Given the description of an element on the screen output the (x, y) to click on. 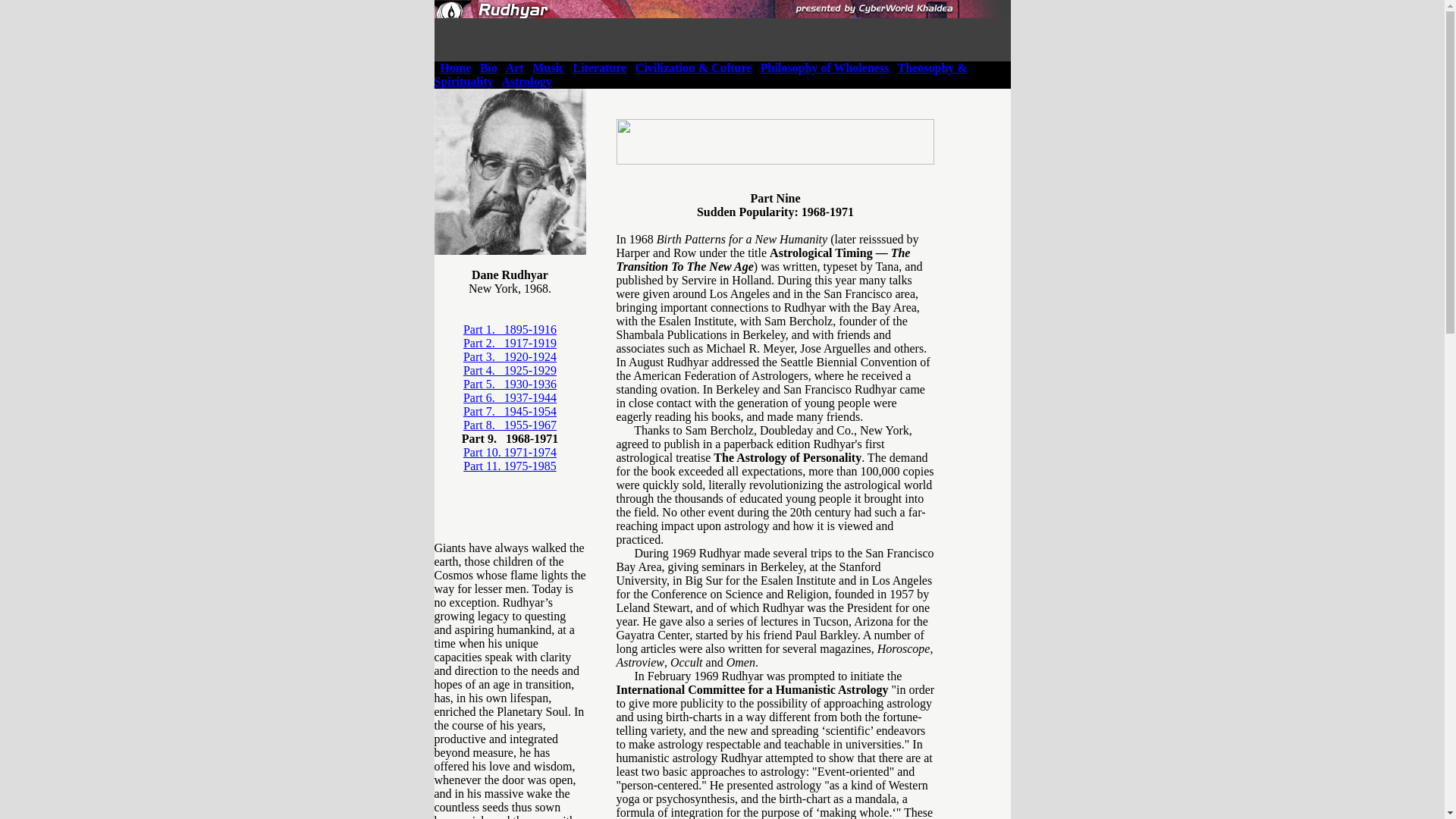
Part 8.   1955-1967 (509, 424)
Part 6.   1937-1944 (509, 397)
Astrology (525, 81)
Part 4.   1925-1929 (509, 369)
Part 10. 1971-1974 (509, 451)
Home (454, 67)
Part 2.   1917-1919 (509, 342)
Art (514, 67)
Part 11. 1975-1985 (509, 465)
Part 5.   1930-1936 (509, 383)
Philosophy of Wholeness (824, 67)
Part 7.   1945-1954 (509, 410)
Bio (488, 67)
Part 1.   1895-1916 (509, 328)
Music (548, 67)
